Given the description of an element on the screen output the (x, y) to click on. 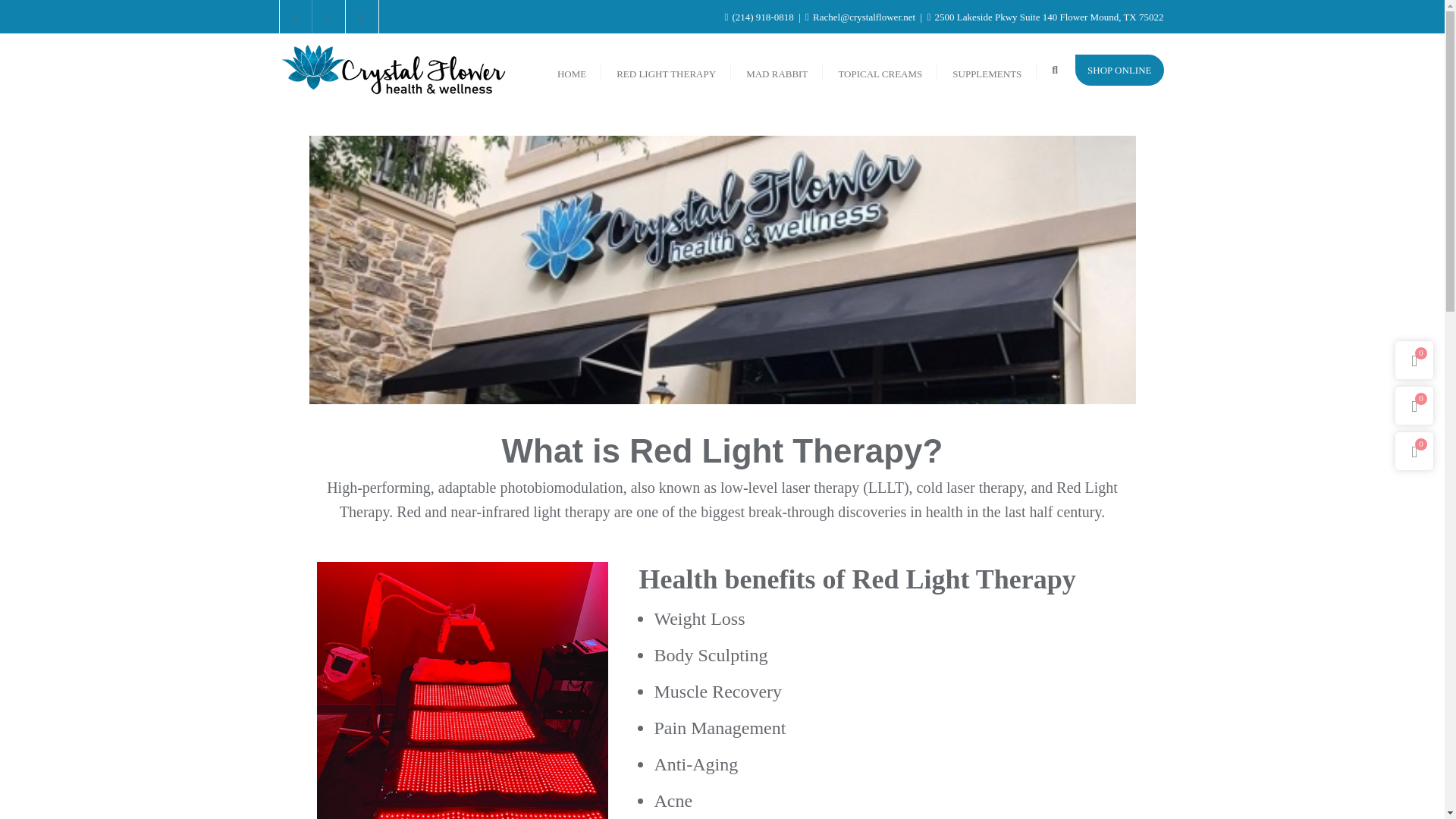
2500 Lakeside Pkwy Suite 140 Flower Mound, TX 75022 (1044, 16)
HOME (571, 70)
TOPICAL CREAMS (879, 70)
MAD RABBIT (776, 70)
RED LIGHT THERAPY (665, 70)
SHOP ONLINE (1119, 69)
SUPPLEMENTS (986, 70)
